Given the description of an element on the screen output the (x, y) to click on. 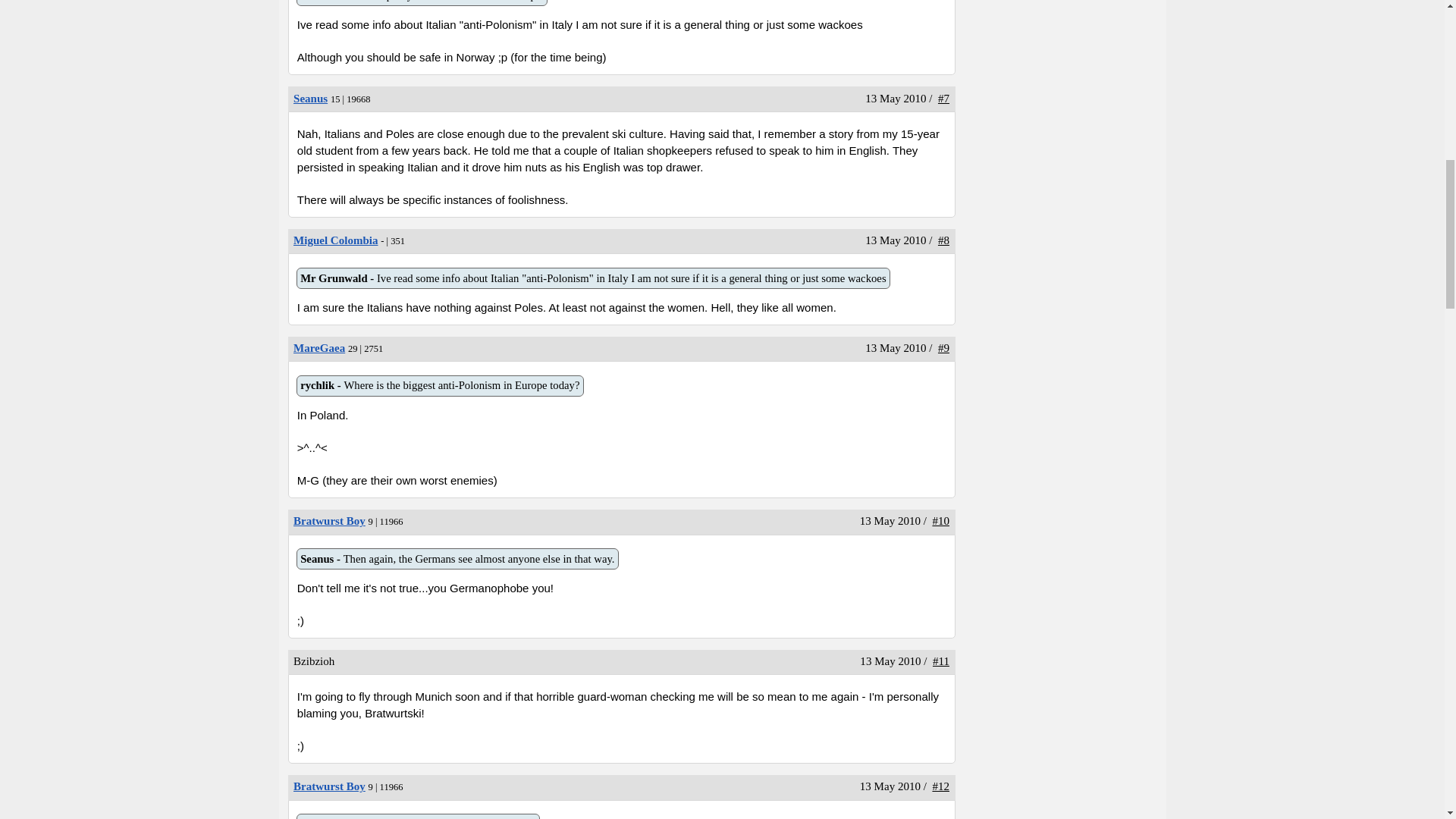
Seanus (422, 2)
Bratwurst Boy (335, 240)
Bratwurst Boy (329, 786)
Seanus (329, 521)
Miguel Colombia (310, 98)
Mr Grunwald (335, 240)
MareGaea (593, 278)
